Given the description of an element on the screen output the (x, y) to click on. 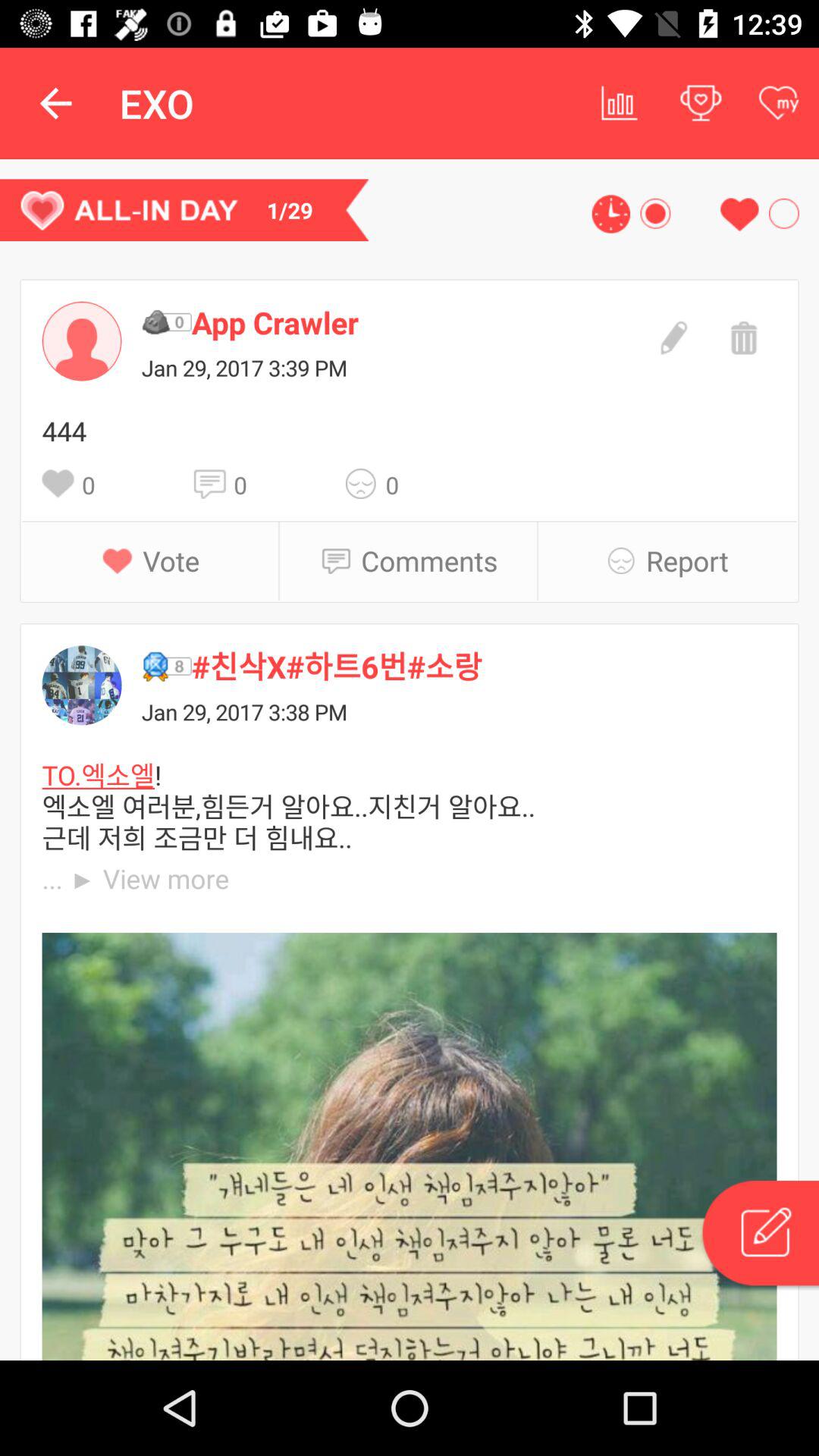
turn on the icon next to the 1/29 (610, 213)
